Given the description of an element on the screen output the (x, y) to click on. 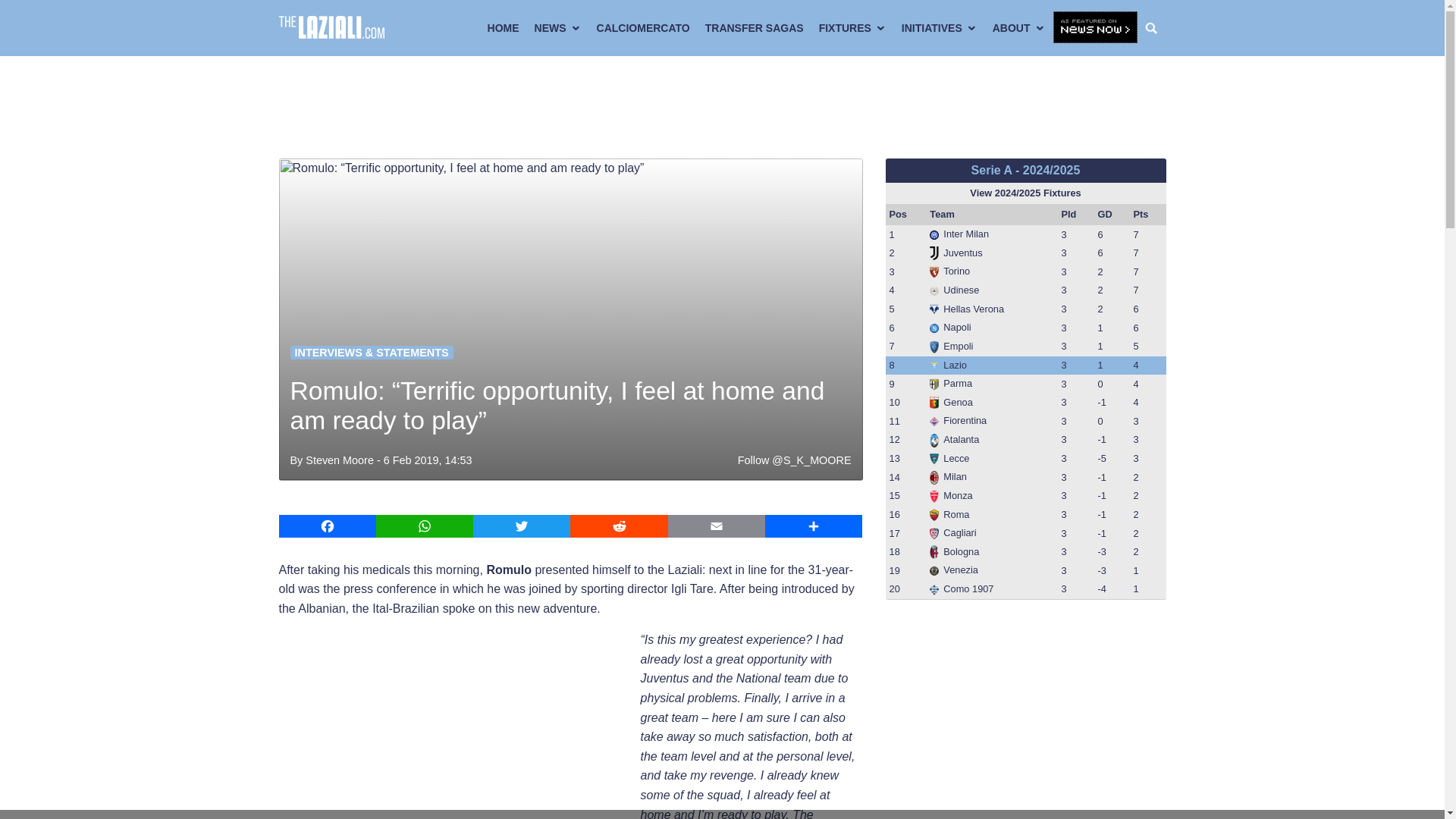
NEWS (558, 28)
Reddit (618, 525)
TRANSFER SAGAS (753, 28)
Click here for more Lazio news from NewsNow (1094, 28)
CALCIOMERCATO (643, 28)
Twitter (521, 525)
ABOUT (1018, 28)
WhatsApp (424, 525)
Facebook (327, 525)
Search (1155, 28)
